Given the description of an element on the screen output the (x, y) to click on. 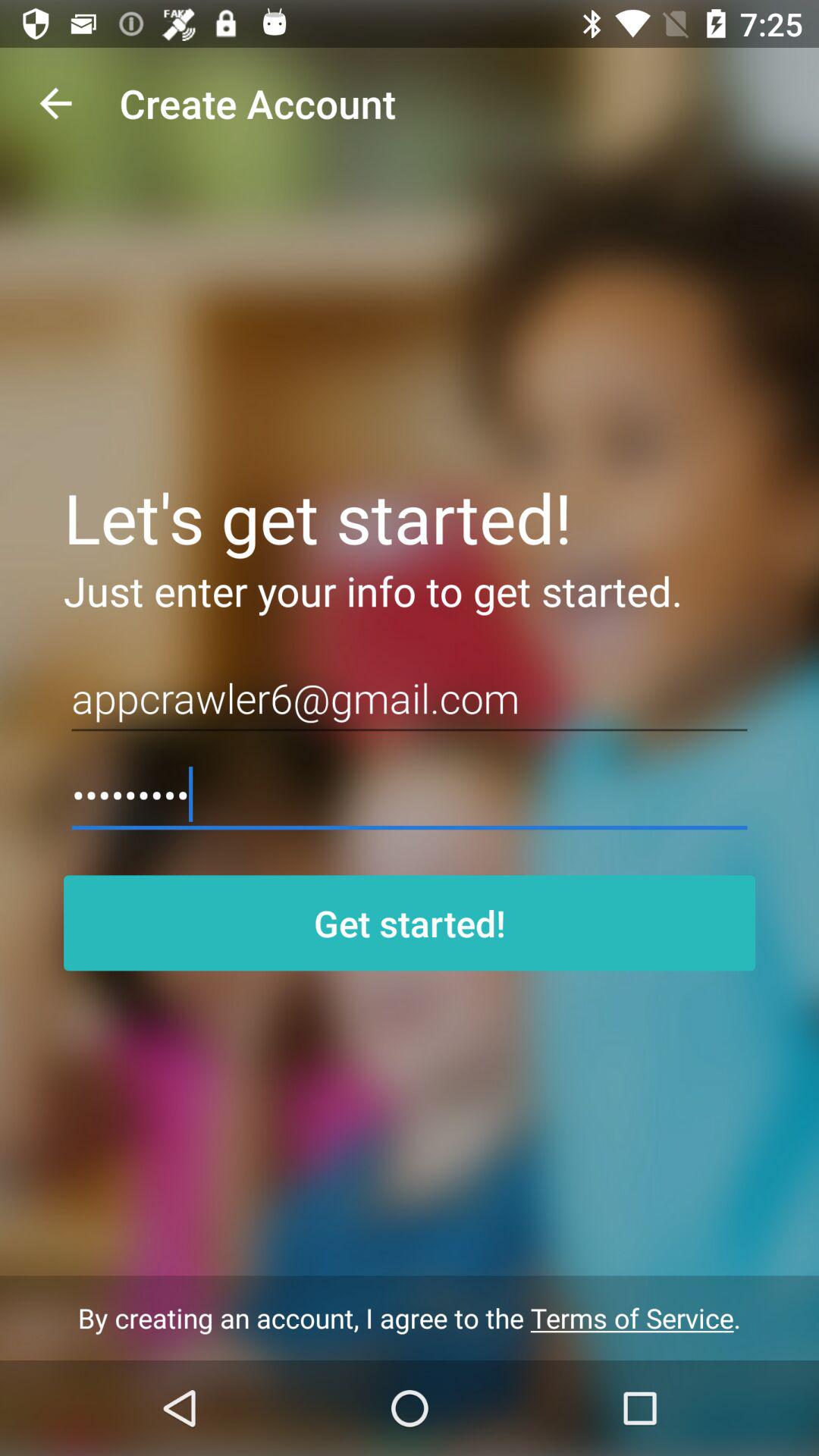
turn on crowd3116 icon (409, 794)
